Given the description of an element on the screen output the (x, y) to click on. 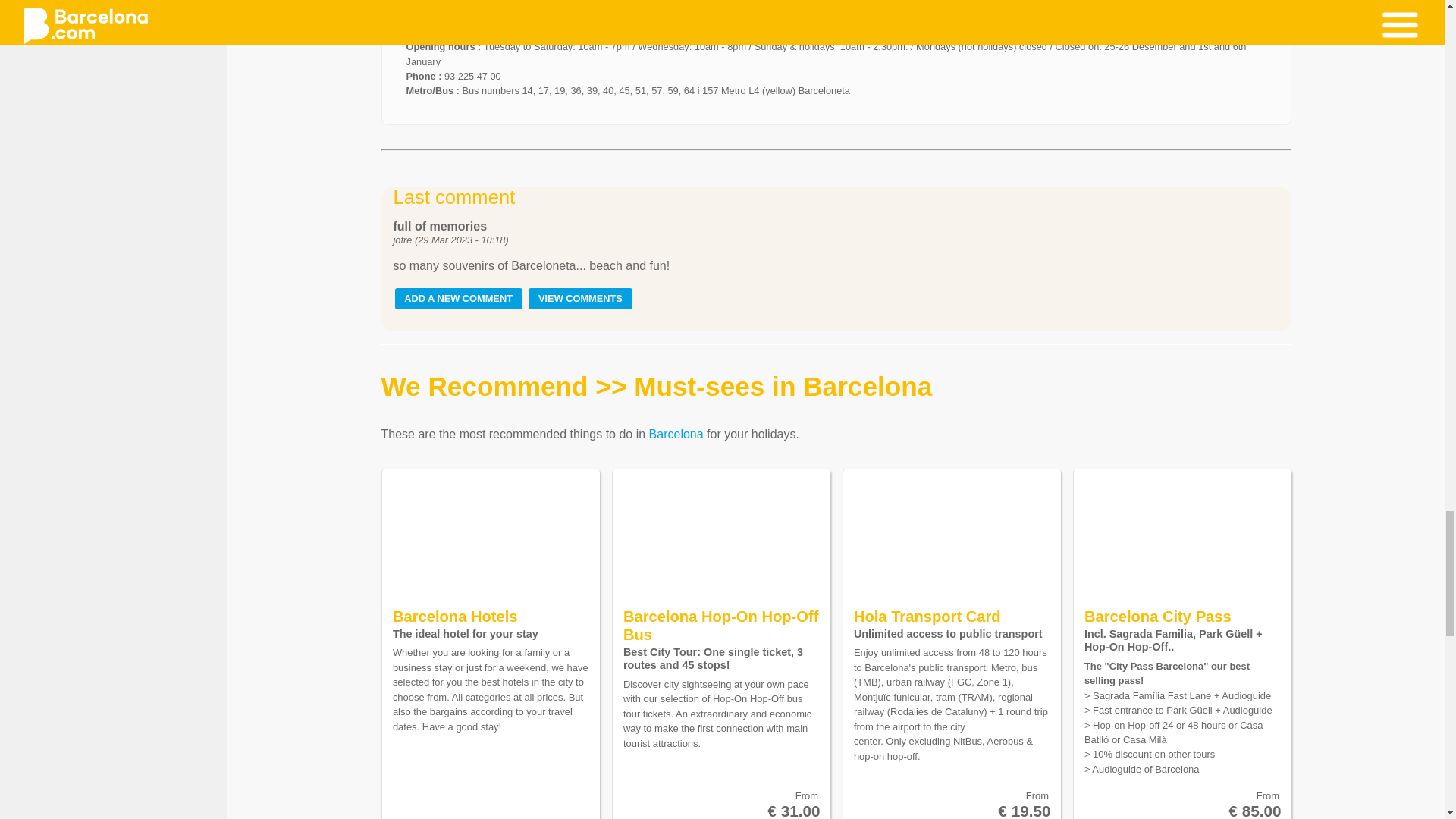
Barcelona (676, 433)
Barcelona City Pass (1157, 616)
ADD A NEW COMMENT (457, 299)
More info (433, 14)
VIEW COMMENTS (579, 299)
Barcelona Hop-On Hop-Off Bus (720, 625)
Barcelona (676, 433)
Hola Transport Card (927, 616)
Barcelona Hotels (455, 616)
